Given the description of an element on the screen output the (x, y) to click on. 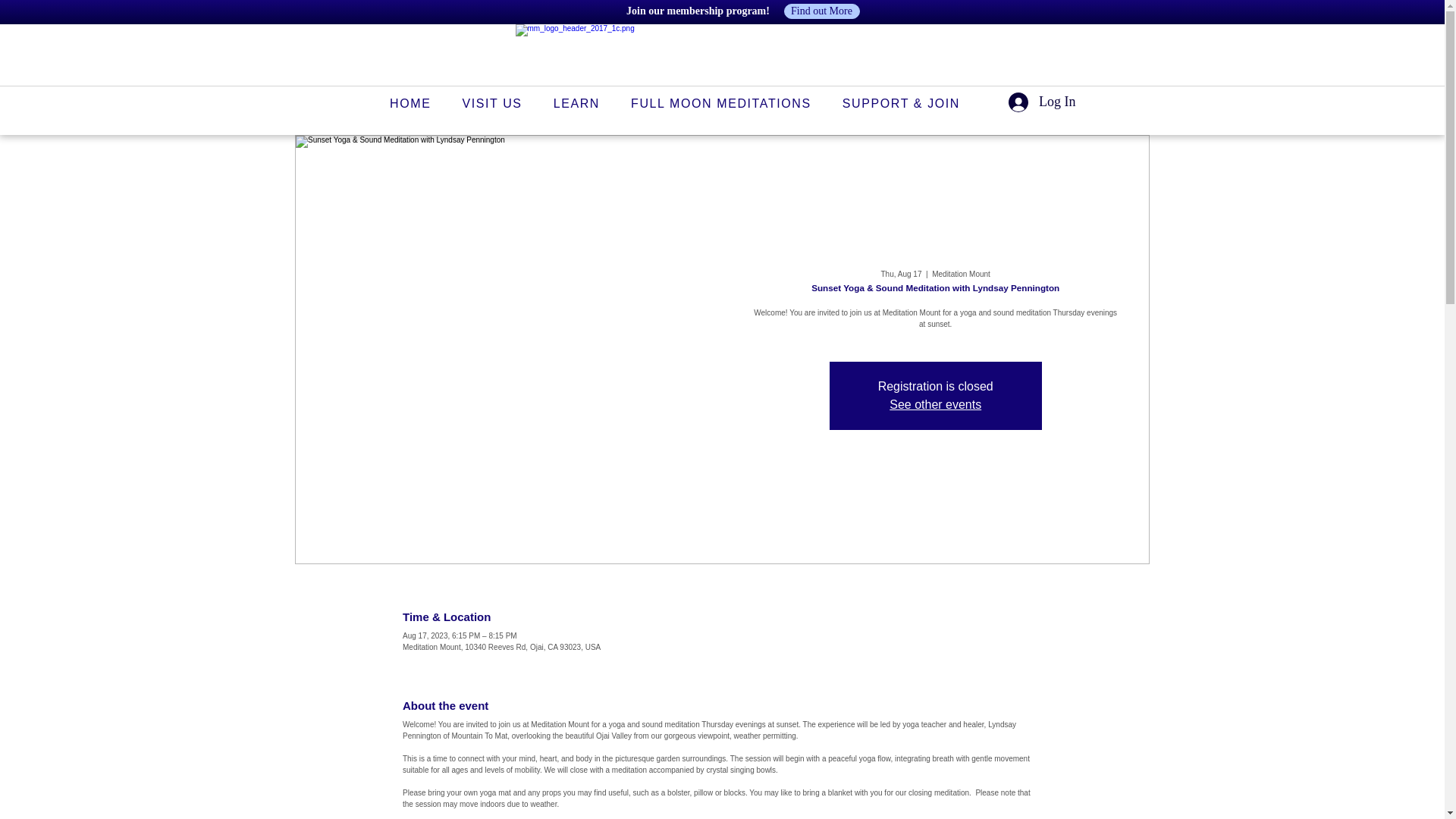
FULL MOON MEDITATIONS (721, 101)
LEARN (575, 101)
2022-03 Meditation Mount Logo HORIZONTAL (740, 54)
HOME (410, 101)
Find out More (822, 11)
See other events (935, 404)
VISIT US (491, 101)
Log In (1041, 102)
